Given the description of an element on the screen output the (x, y) to click on. 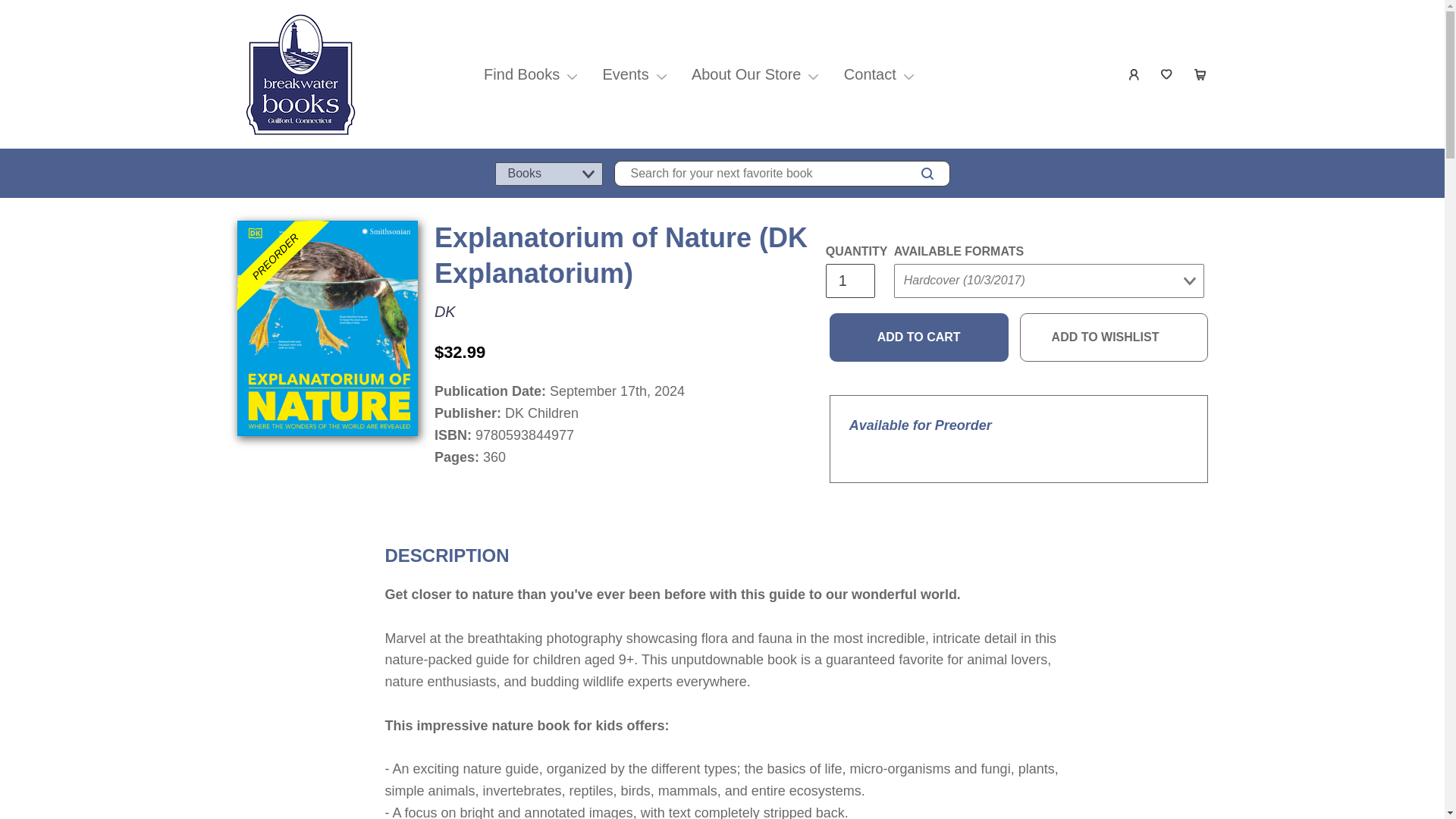
Wishlist (1168, 73)
Cart (1200, 73)
Log in (1134, 73)
ADD TO WISHLIST (1114, 336)
Find Books (521, 74)
Add to cart (919, 336)
Contact (869, 74)
Cart (1200, 73)
About Our Store (745, 74)
DK (444, 311)
Submit (922, 311)
Events (625, 74)
Log in (1134, 73)
Add to cart (919, 336)
